Given the description of an element on the screen output the (x, y) to click on. 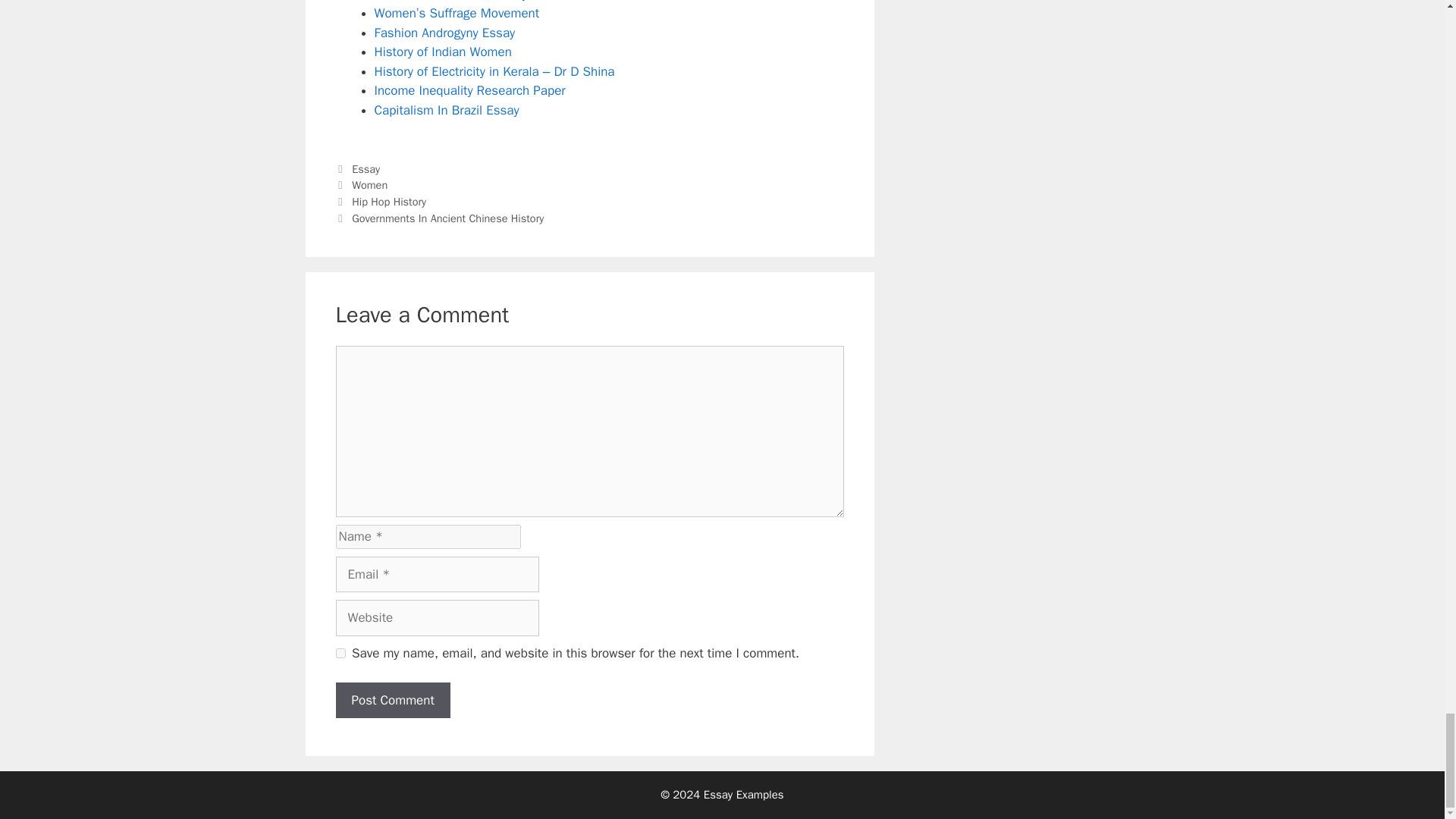
History of Indian Women (443, 51)
yes (339, 653)
Capitalism In Brazil Essay (446, 109)
Essay (366, 169)
Post Comment (391, 700)
Fashion Androgyny Essay (444, 32)
History of Indian Women (443, 51)
Income Inequality Research Paper (470, 90)
Income Inequality Research Paper (470, 90)
Fashion Androgyny Essay (444, 32)
